Given the description of an element on the screen output the (x, y) to click on. 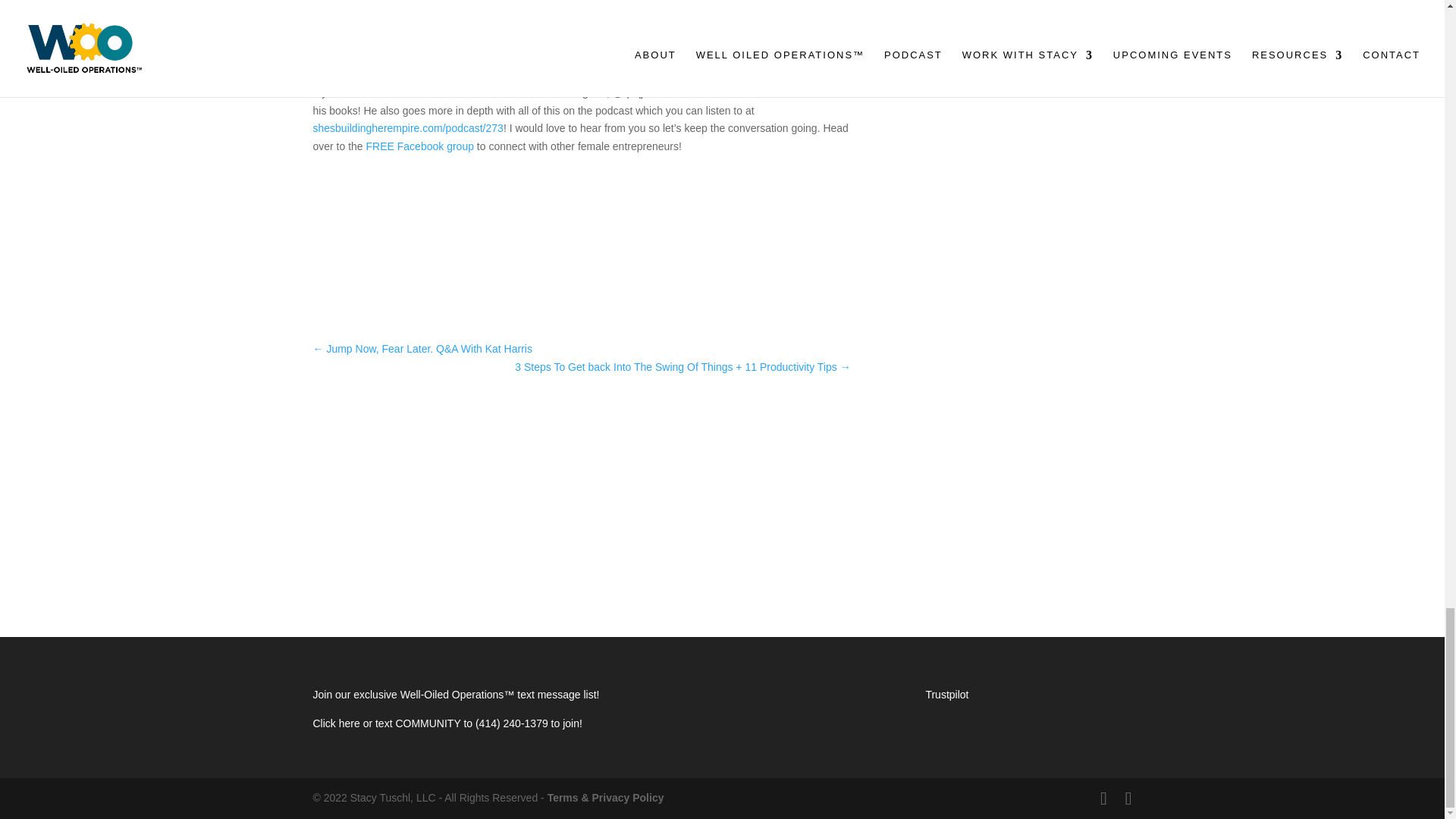
Trustpilot (946, 694)
Facebook (753, 92)
FREE Facebook group (421, 146)
Click here (337, 723)
